Given the description of an element on the screen output the (x, y) to click on. 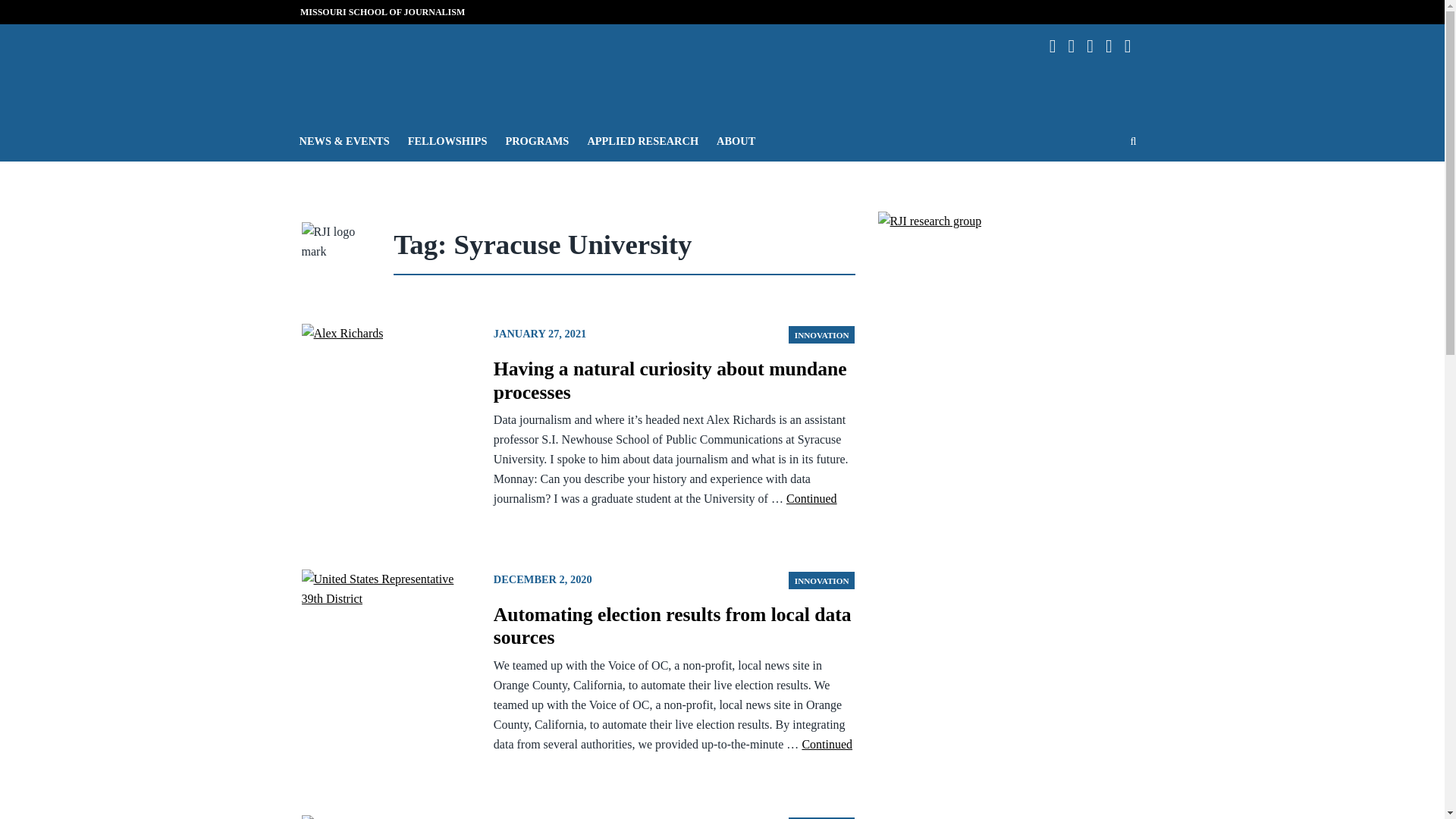
FELLOWSHIPS (447, 140)
University of Missouri (458, 107)
APPLIED RESEARCH (642, 140)
MISSOURI SCHOOL OF JOURNALISM (381, 11)
Twitter (1114, 46)
RJI (589, 66)
PROGRAMS (537, 140)
Facebook (1058, 46)
RJI (589, 66)
YouTube (1133, 46)
Linked In (1076, 46)
Newsletters (1095, 46)
Mizzou Logo (324, 64)
